Given the description of an element on the screen output the (x, y) to click on. 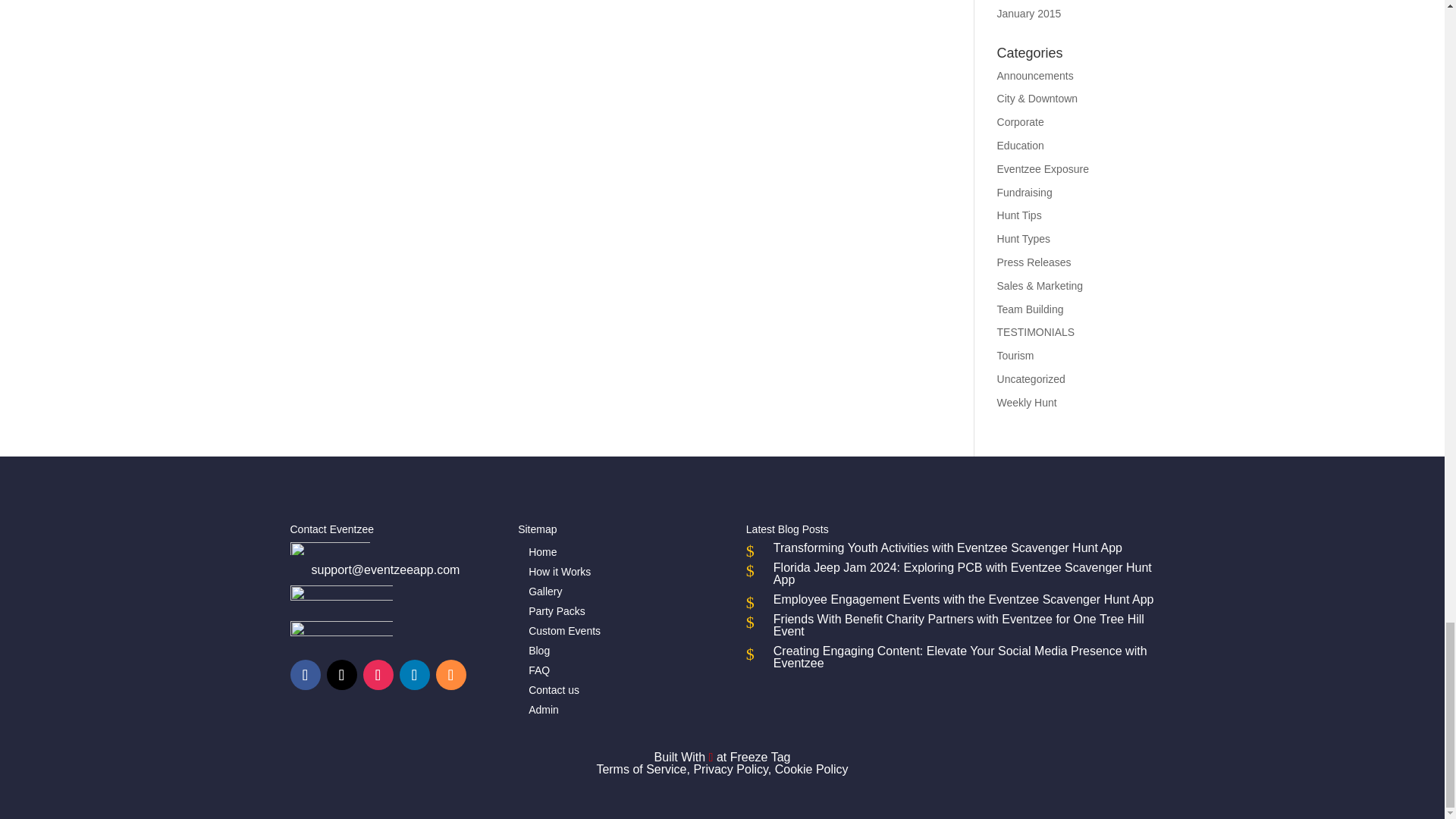
Cookie Policy (811, 768)
Follow on RSS (450, 675)
Follow on Instagram (377, 675)
badge-googleplay (340, 600)
Follow on Facebook (304, 675)
appstorebadge (340, 635)
Follow on X (341, 675)
Follow on LinkedIn (413, 675)
